Given the description of an element on the screen output the (x, y) to click on. 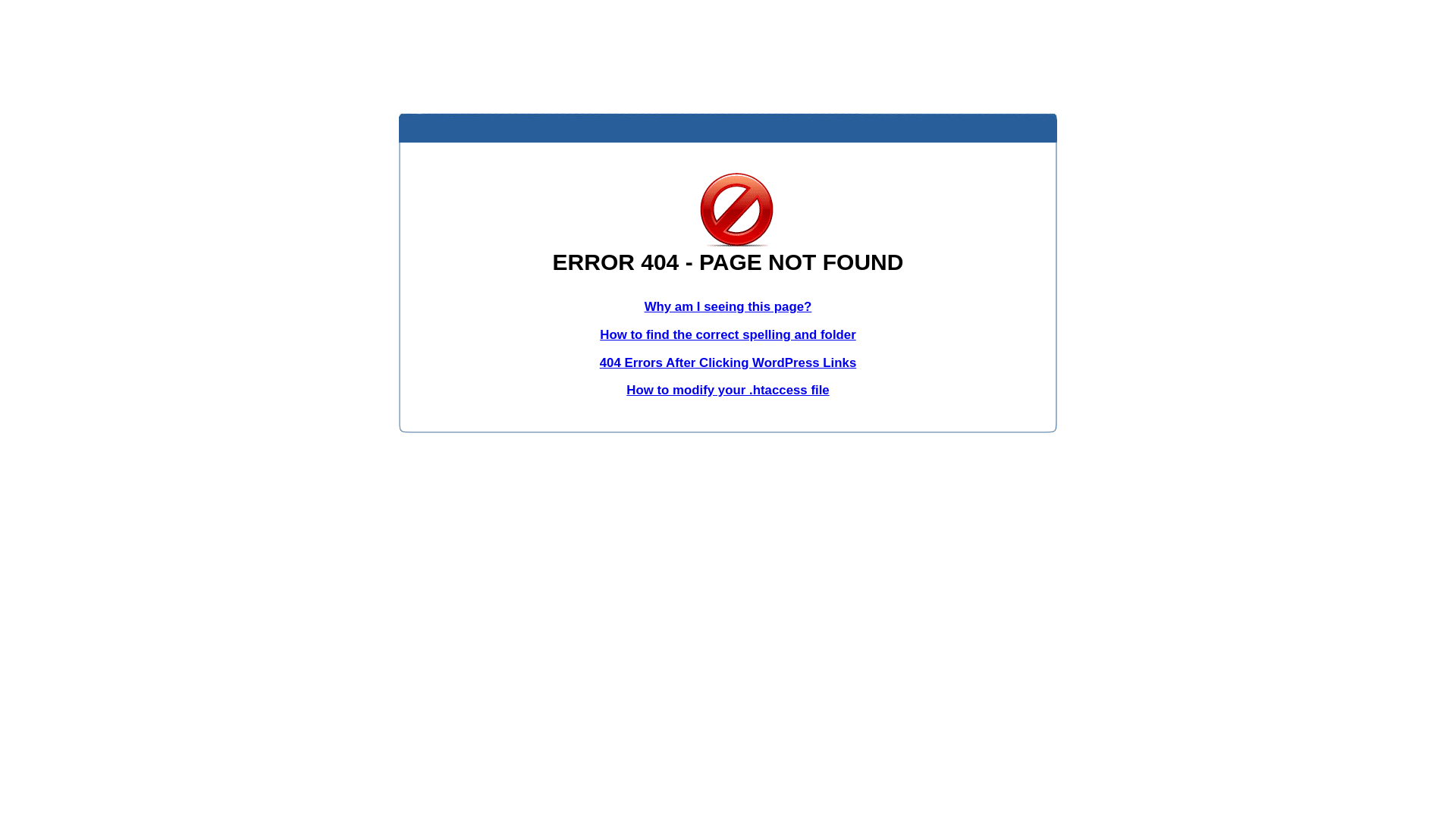
Why am I seeing this page? Element type: text (728, 306)
How to find the correct spelling and folder Element type: text (727, 334)
How to modify your .htaccess file Element type: text (727, 389)
404 Errors After Clicking WordPress Links Element type: text (727, 362)
